Given the description of an element on the screen output the (x, y) to click on. 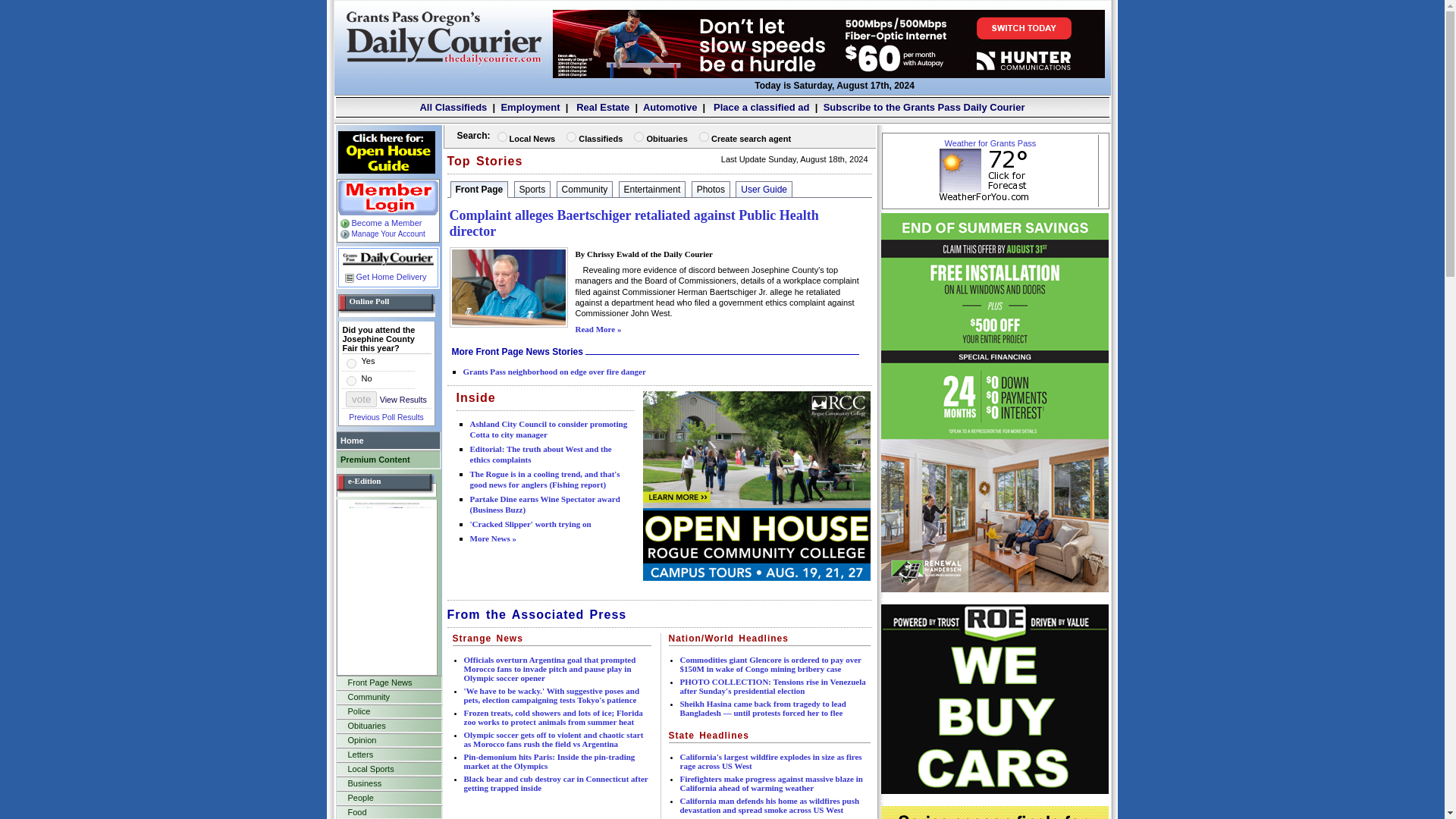
People (388, 797)
Subscribe to the Grants Pass Daily Courier (924, 107)
on (571, 136)
Home (387, 440)
Get Home Delivery (384, 276)
5452 (350, 363)
View Results (401, 398)
on (703, 136)
Local Sports (388, 768)
vote (361, 399)
